Given the description of an element on the screen output the (x, y) to click on. 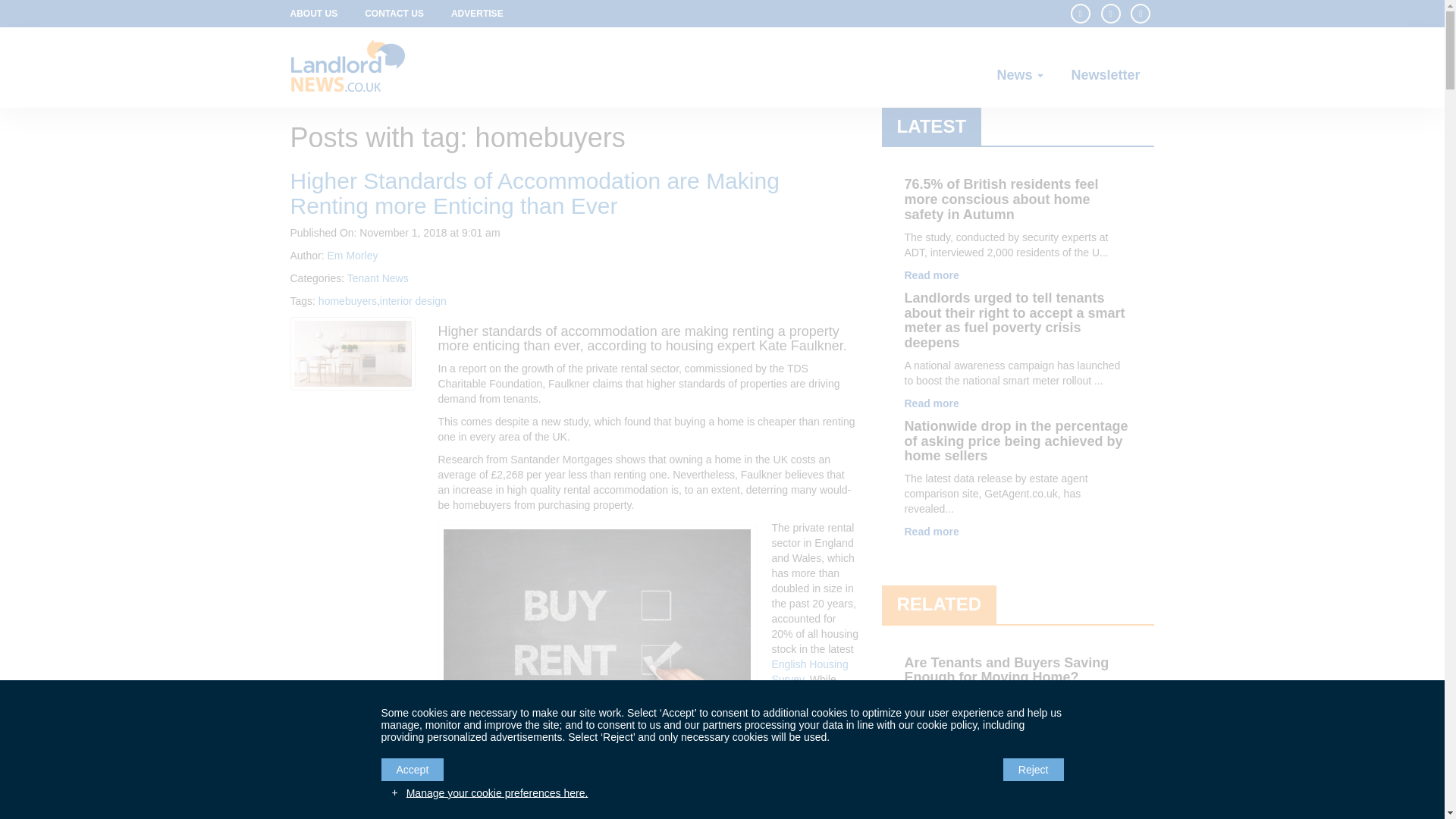
ADVERTISE (477, 13)
CONTACT US (394, 13)
ABOUT US (319, 13)
Posts by Em Morley (352, 255)
News (1026, 74)
